Given the description of an element on the screen output the (x, y) to click on. 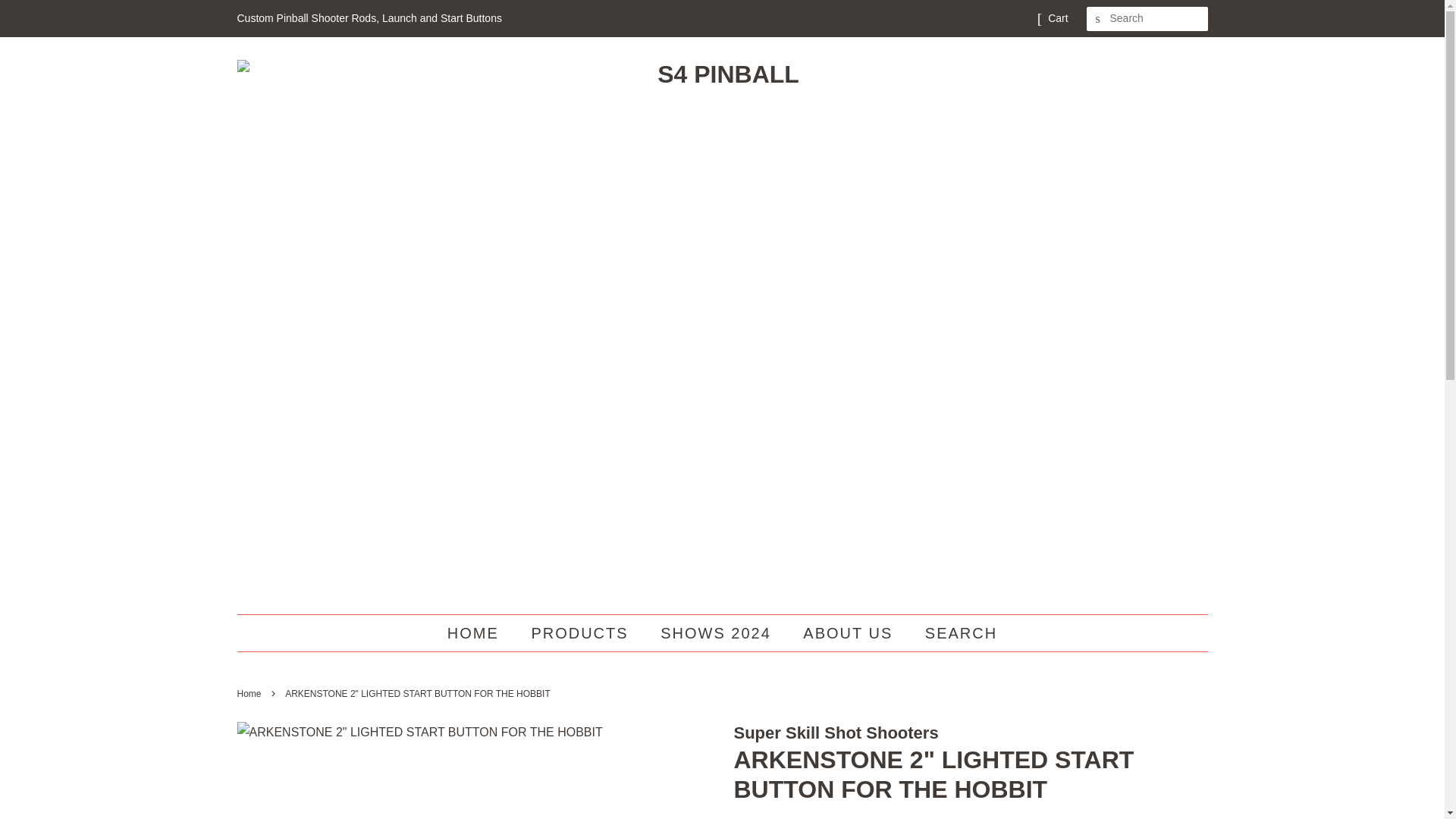
Back to the frontpage (249, 693)
SEARCH (955, 633)
HOME (479, 633)
SEARCH (1097, 18)
Home (249, 693)
SHOWS 2024 (717, 633)
Cart (1057, 18)
ABOUT US (849, 633)
PRODUCTS (581, 633)
